Given the description of an element on the screen output the (x, y) to click on. 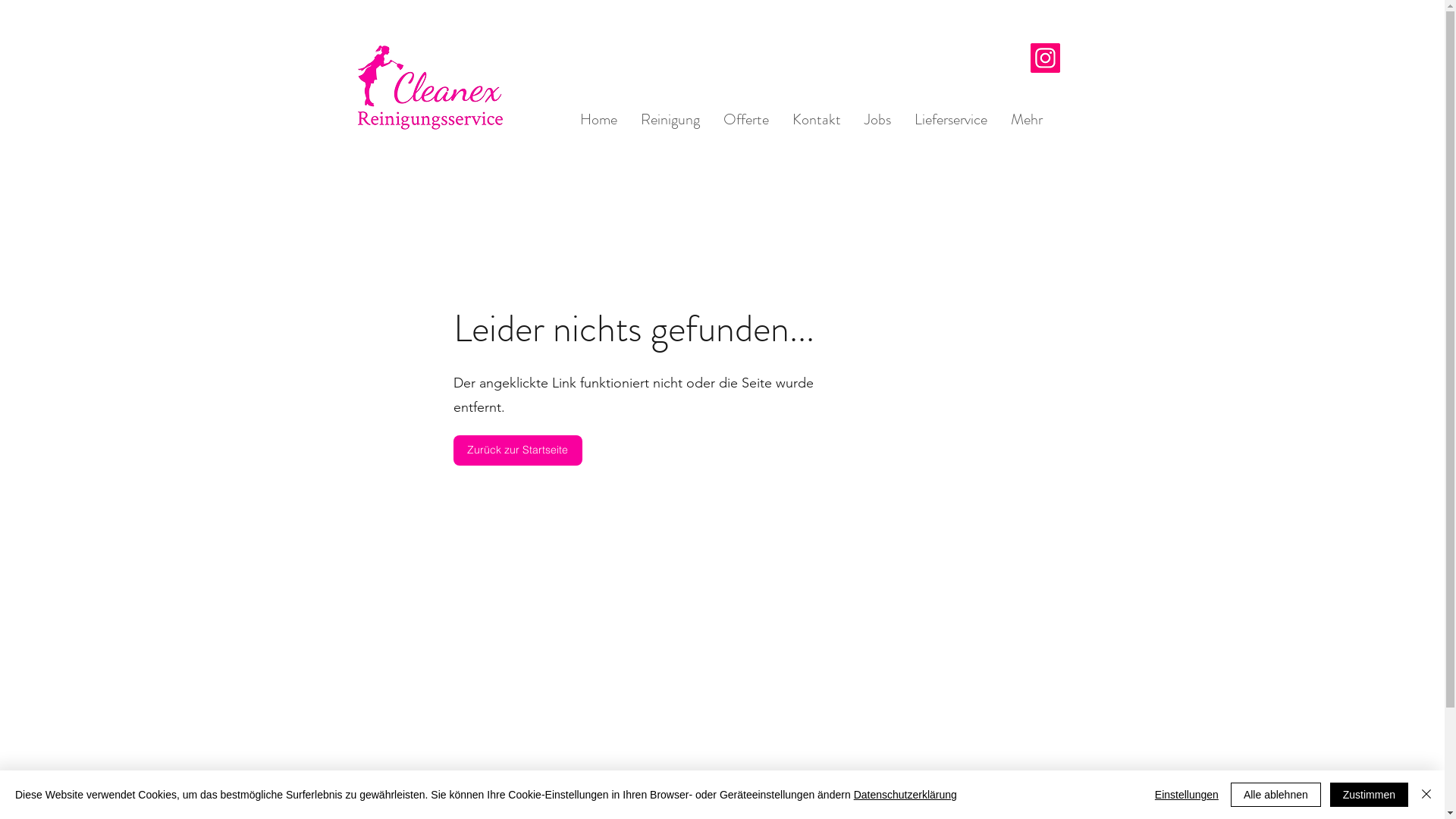
Alle ablehnen Element type: text (1275, 794)
Reinigung Element type: text (668, 119)
Home Element type: text (597, 119)
Kontakt Element type: text (815, 119)
Lieferservice Element type: text (950, 119)
Offerte Element type: text (745, 119)
Jobs Element type: text (877, 119)
Zustimmen Element type: text (1369, 794)
